Given the description of an element on the screen output the (x, y) to click on. 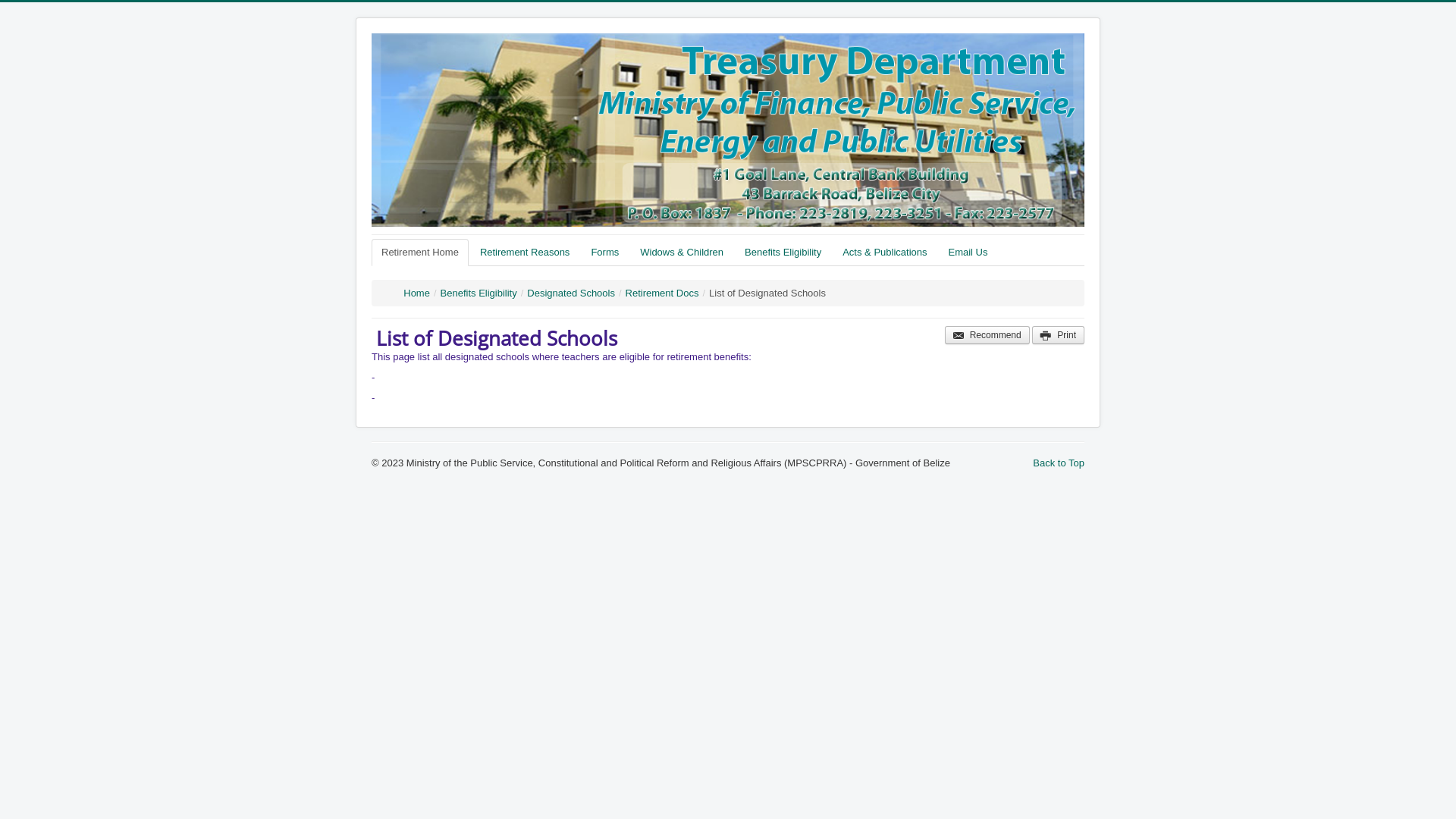
Retirement Reasons Element type: text (525, 252)
Print Element type: text (1058, 335)
Back to Top Element type: text (1058, 462)
Retirement Docs Element type: text (662, 292)
Benefits Eligibility Element type: text (782, 252)
Benefits Eligibility Element type: text (478, 292)
Home Element type: text (416, 292)
Recommend Element type: text (986, 335)
Acts & Publications Element type: text (884, 252)
Forms Element type: text (604, 252)
Widows & Children Element type: text (681, 252)
Designated Schools Element type: text (571, 292)
Retirement Home Element type: text (419, 252)
Email Us Element type: text (967, 252)
